Given the description of an element on the screen output the (x, y) to click on. 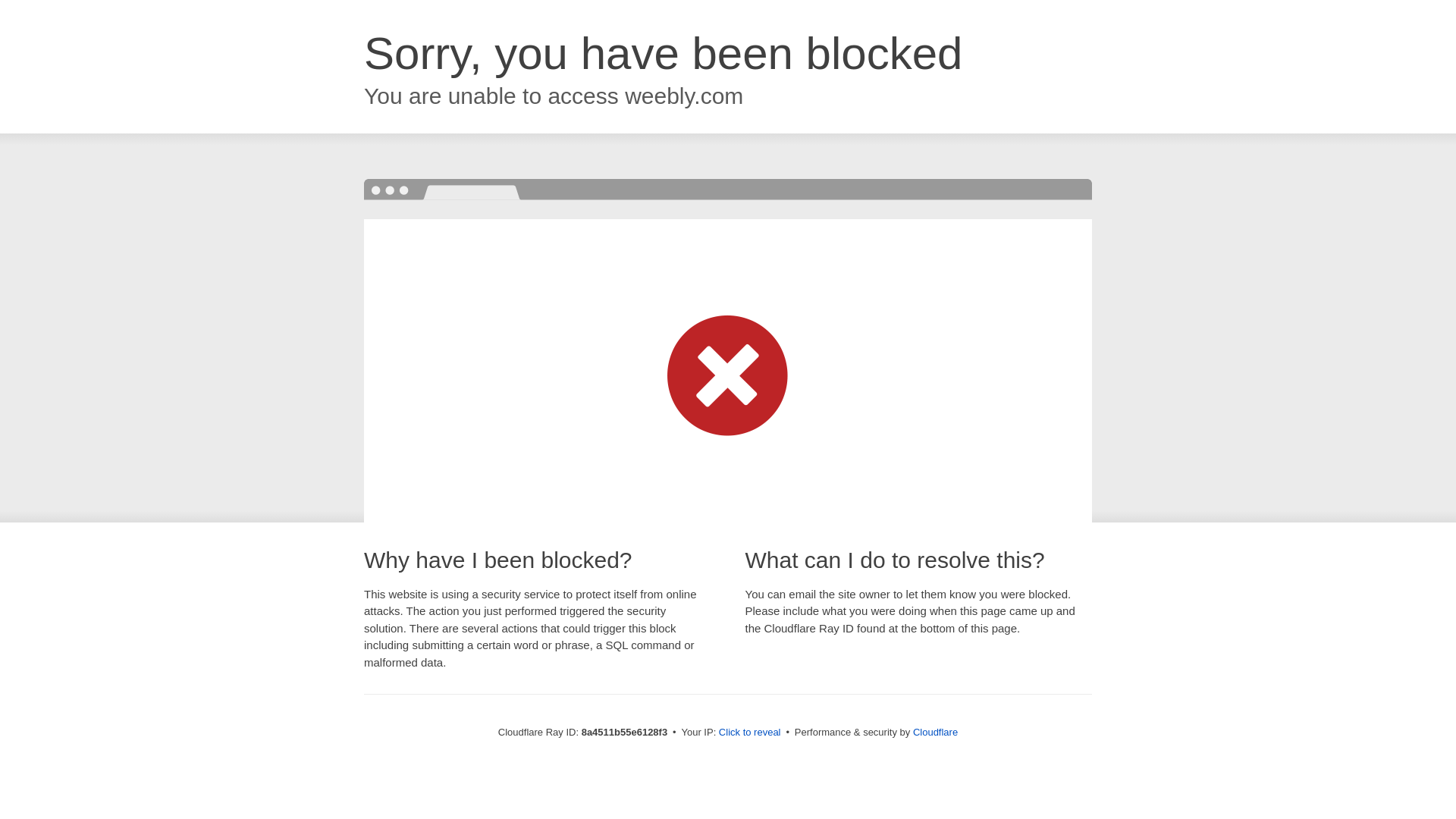
Click to reveal (749, 732)
Cloudflare (935, 731)
